Given the description of an element on the screen output the (x, y) to click on. 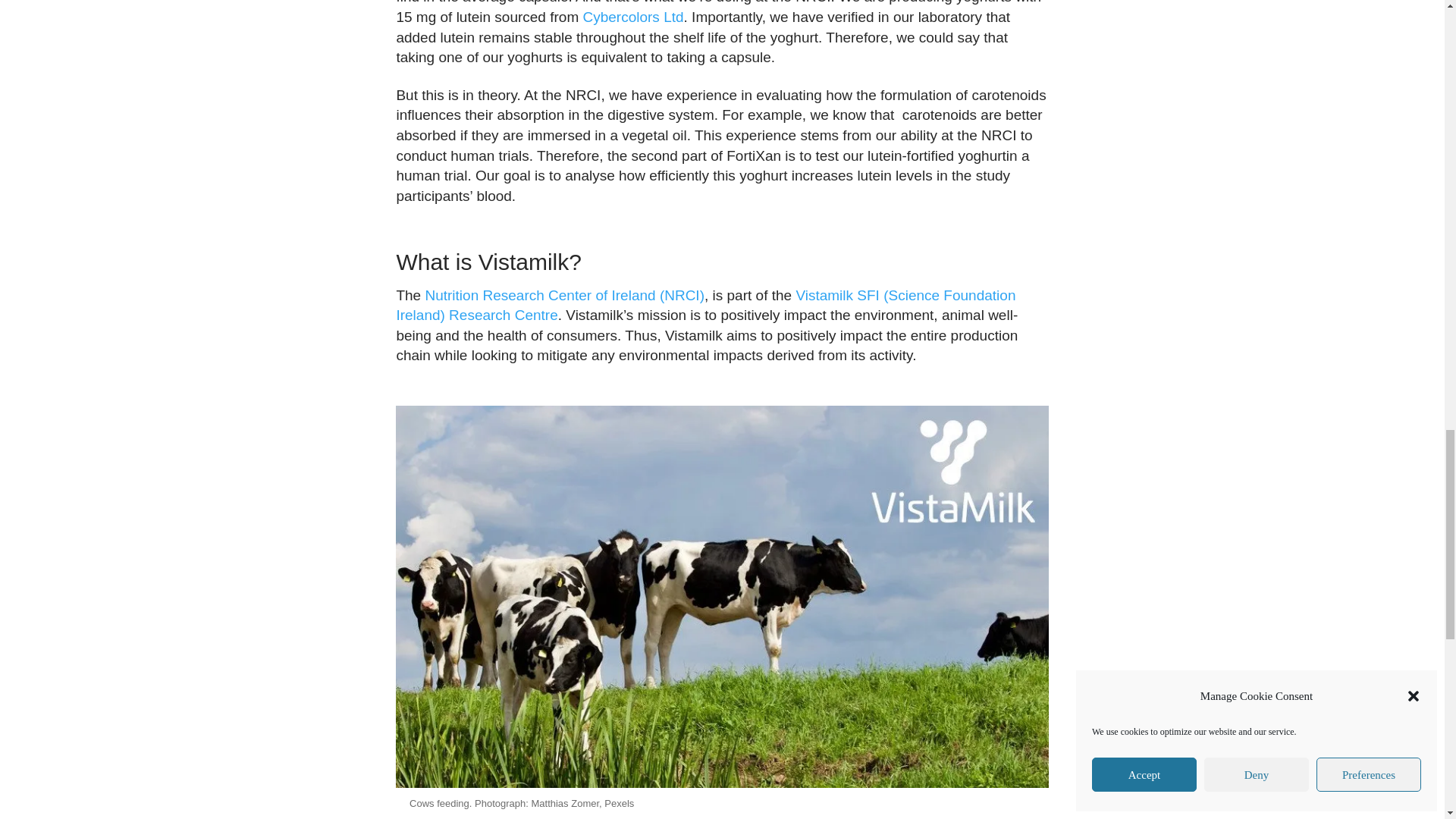
Cybercolors Ltd (632, 17)
